Given the description of an element on the screen output the (x, y) to click on. 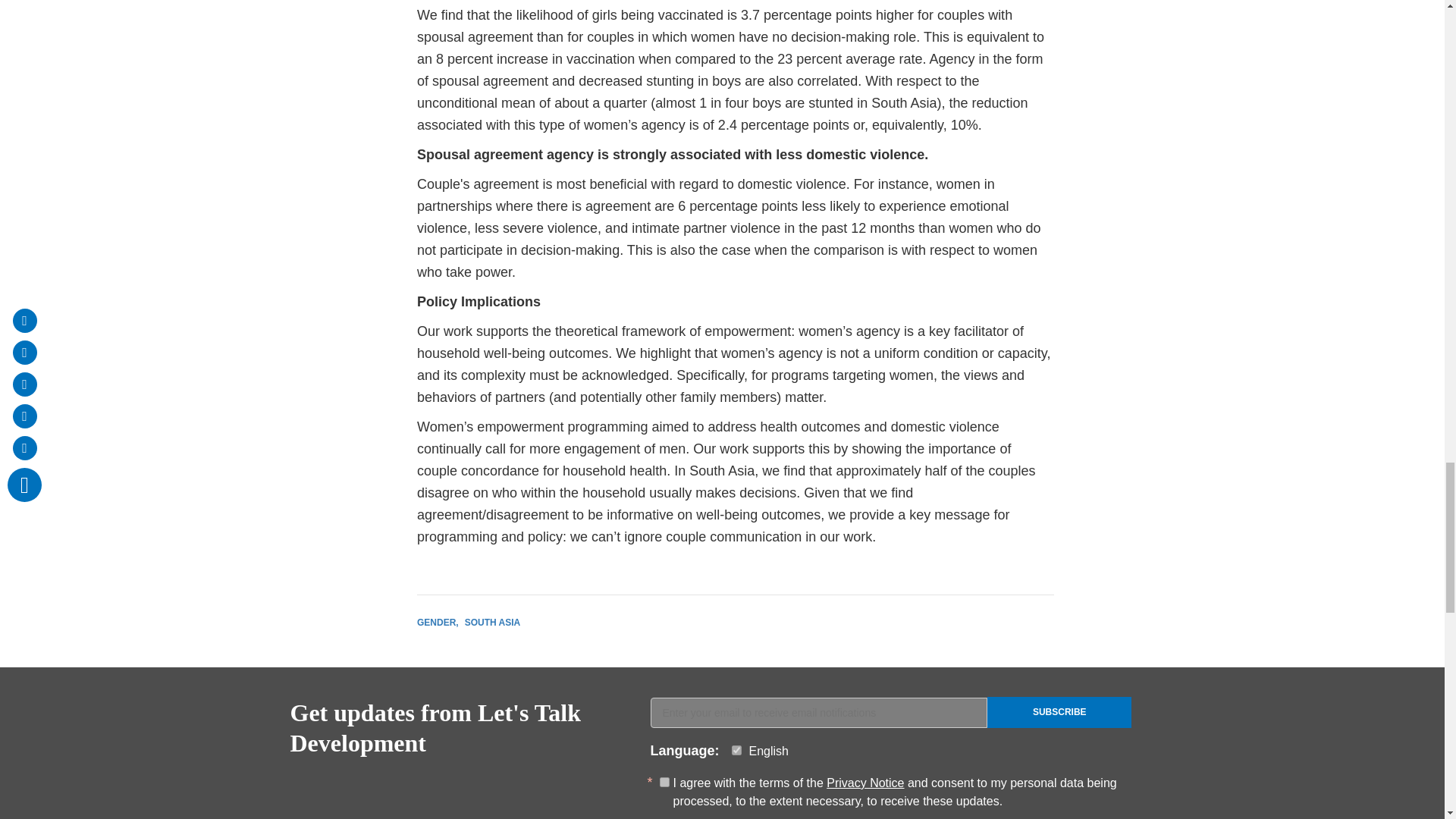
Privacy Notice (865, 782)
1 (664, 782)
SOUTH ASIA (492, 622)
SUBSCRIBE (1059, 712)
en (736, 750)
GENDER (437, 622)
